Given the description of an element on the screen output the (x, y) to click on. 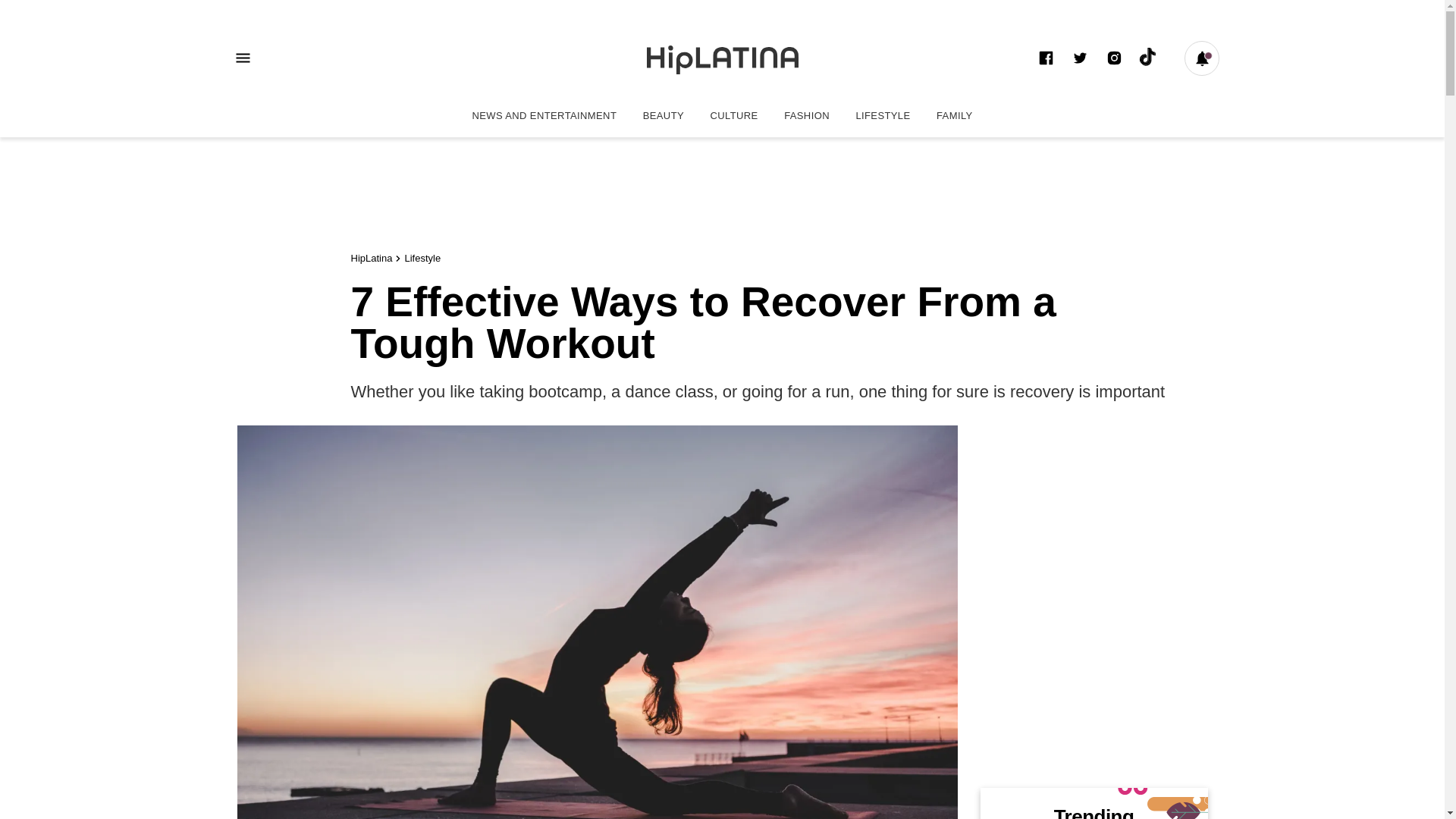
Lifestyle (882, 115)
NEWS AND ENTERTAINMENT (543, 115)
Lifestyle (422, 258)
HipLatina (370, 258)
HipLatina (370, 258)
Lifestyle (422, 258)
BEAUTY (663, 115)
Follow HipLatina on twitter (1079, 57)
Follow HipLatina on Instagram (1113, 57)
News and Entertainment (543, 115)
